Given the description of an element on the screen output the (x, y) to click on. 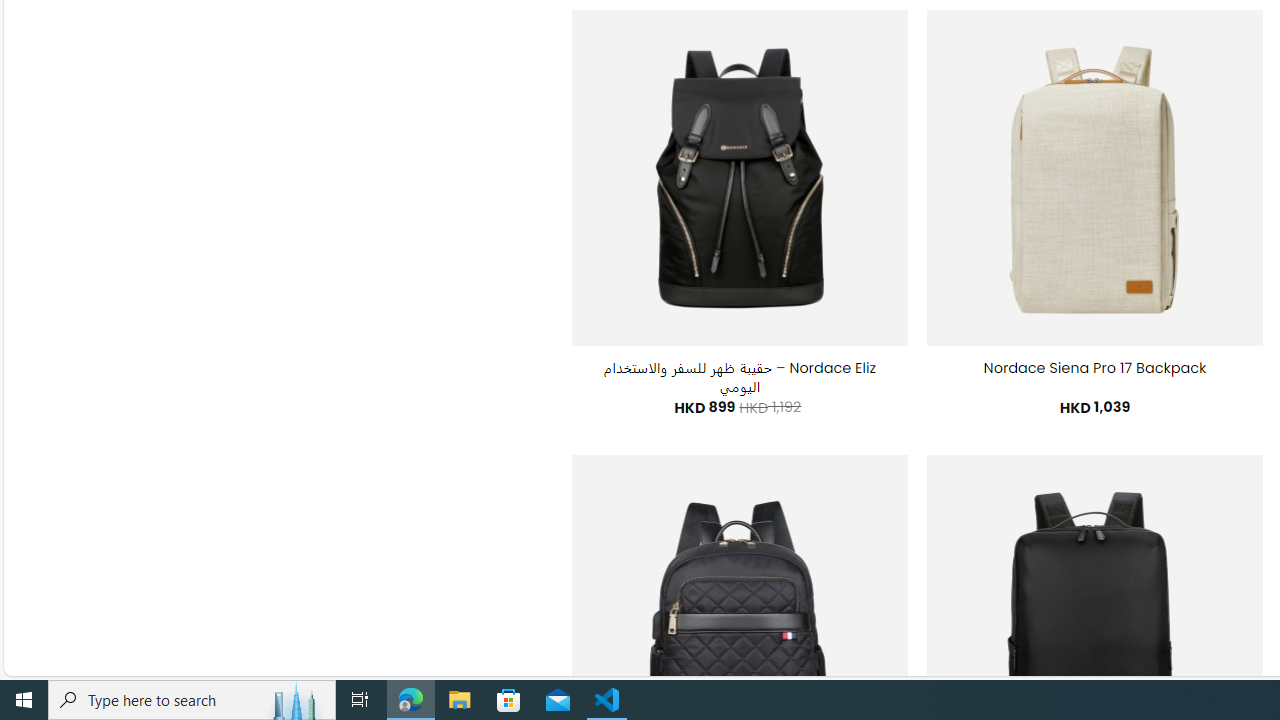
Nordace Siena Pro 17 Backpack (1095, 368)
